Given the description of an element on the screen output the (x, y) to click on. 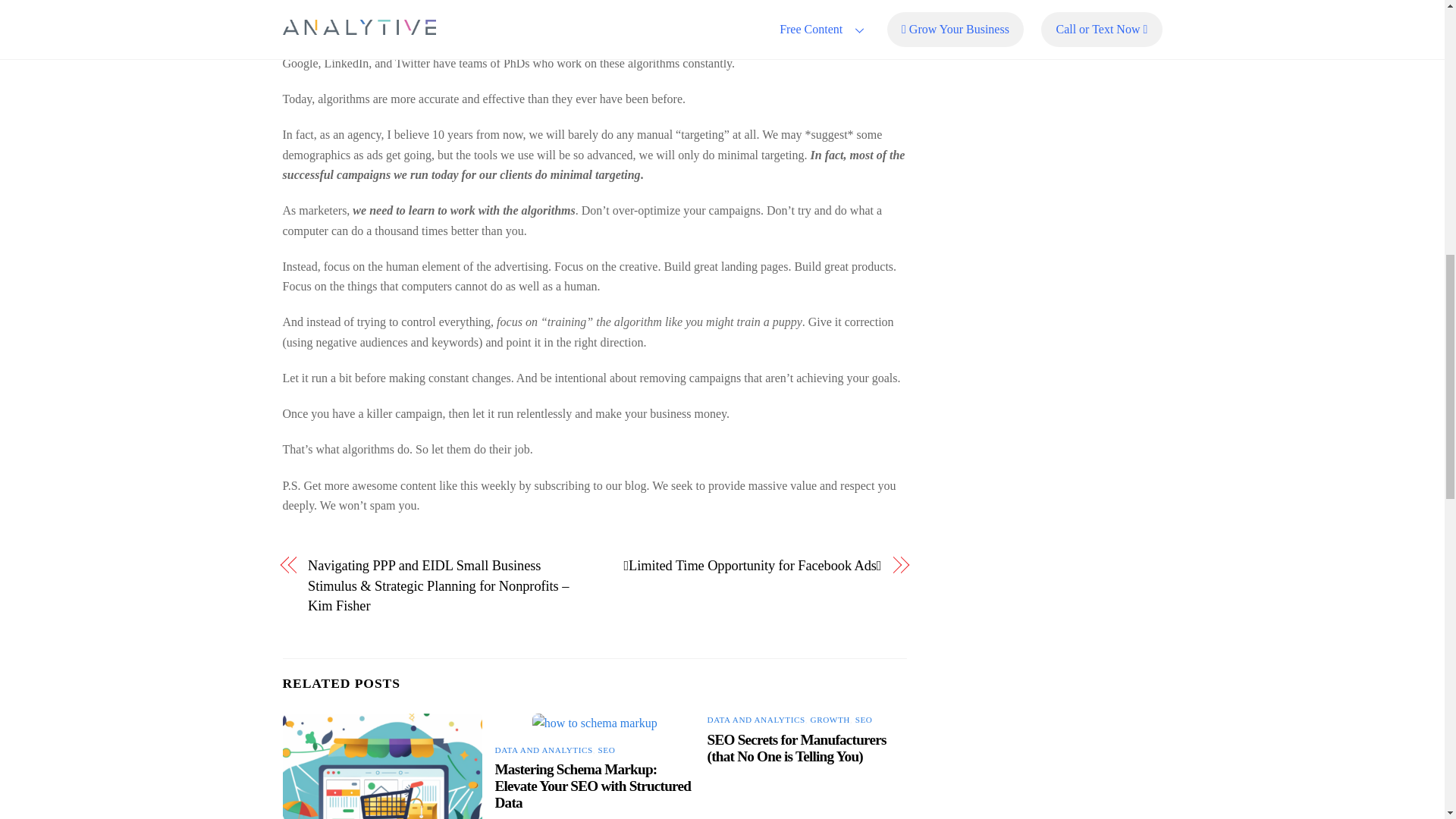
SEO (605, 749)
SEO (864, 718)
GROWTH (830, 718)
DATA AND ANALYTICS (543, 749)
web analytics ecommerce (381, 766)
DATA AND ANALYTICS (756, 718)
how to schema markup (595, 723)
